Given the description of an element on the screen output the (x, y) to click on. 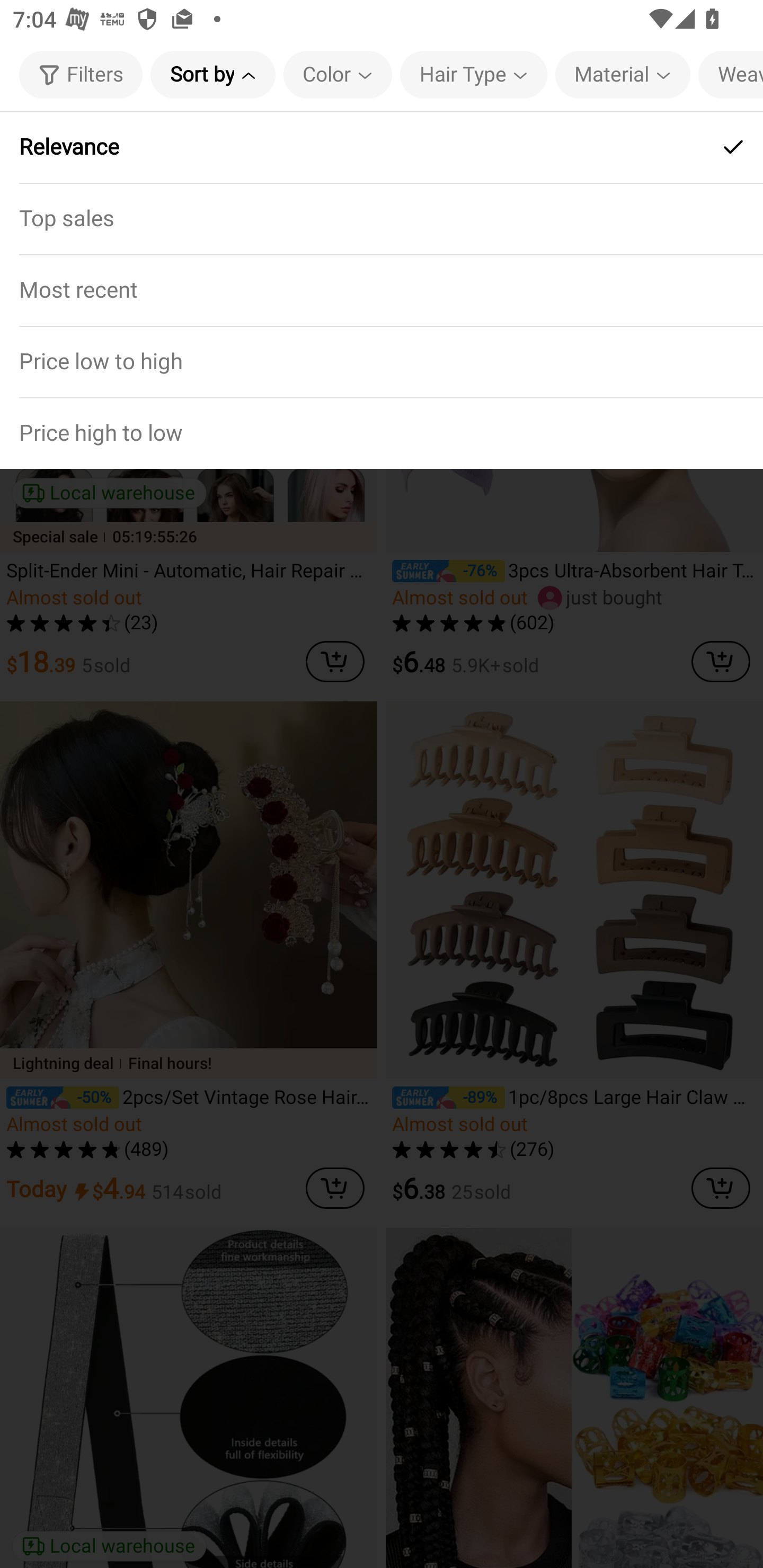
Filters (80, 74)
Sort by (212, 74)
Color (337, 74)
Hair Type (473, 74)
Material (622, 74)
Weaving Method (730, 74)
Relevance (381, 147)
Top sales (381, 218)
Most recent (381, 290)
Price low to high (381, 361)
Price high to low (381, 432)
